Given the description of an element on the screen output the (x, y) to click on. 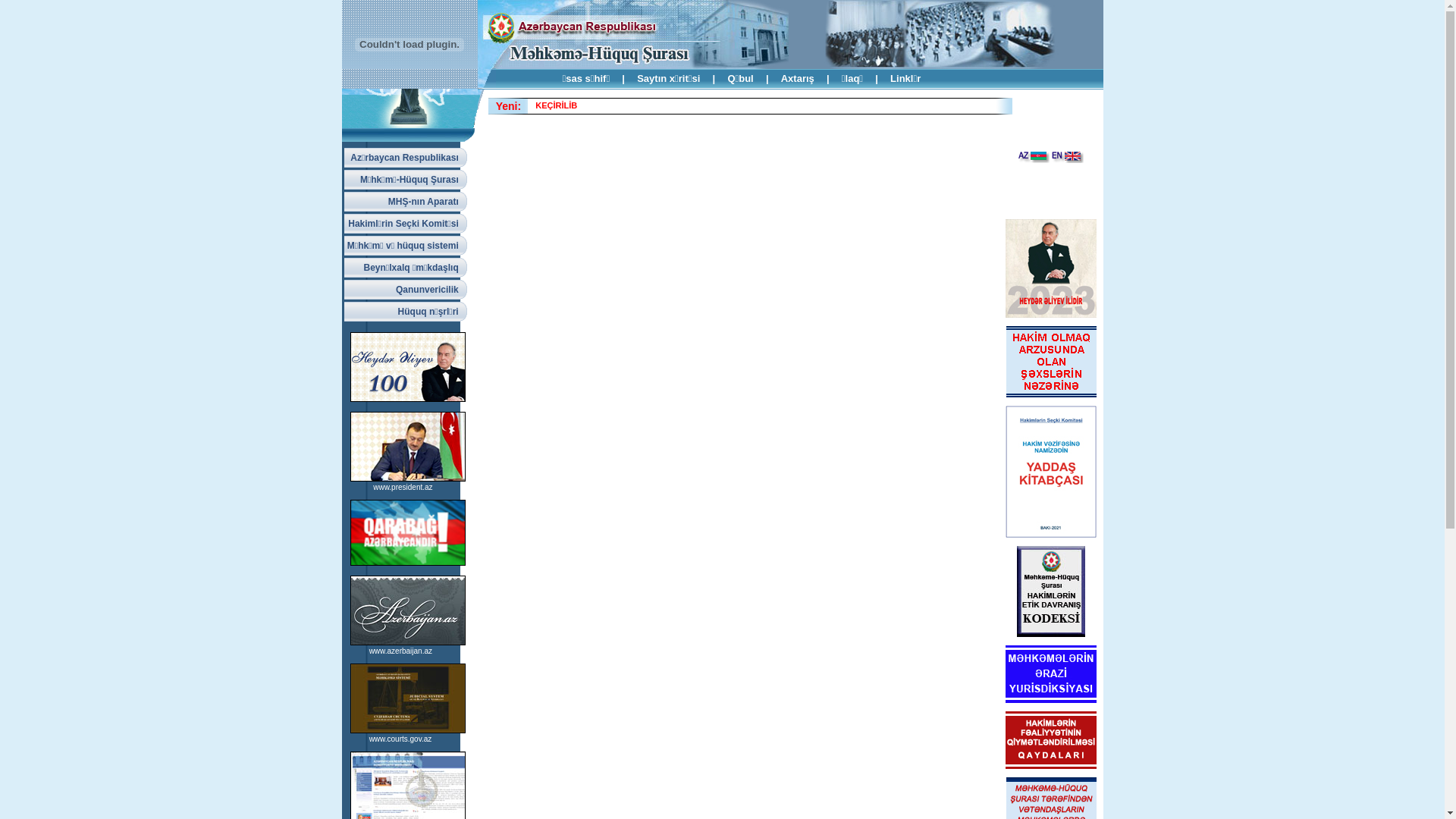
www.courts.gov.az Element type: text (400, 738)
www.president.az Element type: text (402, 487)
Qanunvericilik Element type: text (405, 289)
www.azerbaijan.az Element type: text (400, 650)
